Given the description of an element on the screen output the (x, y) to click on. 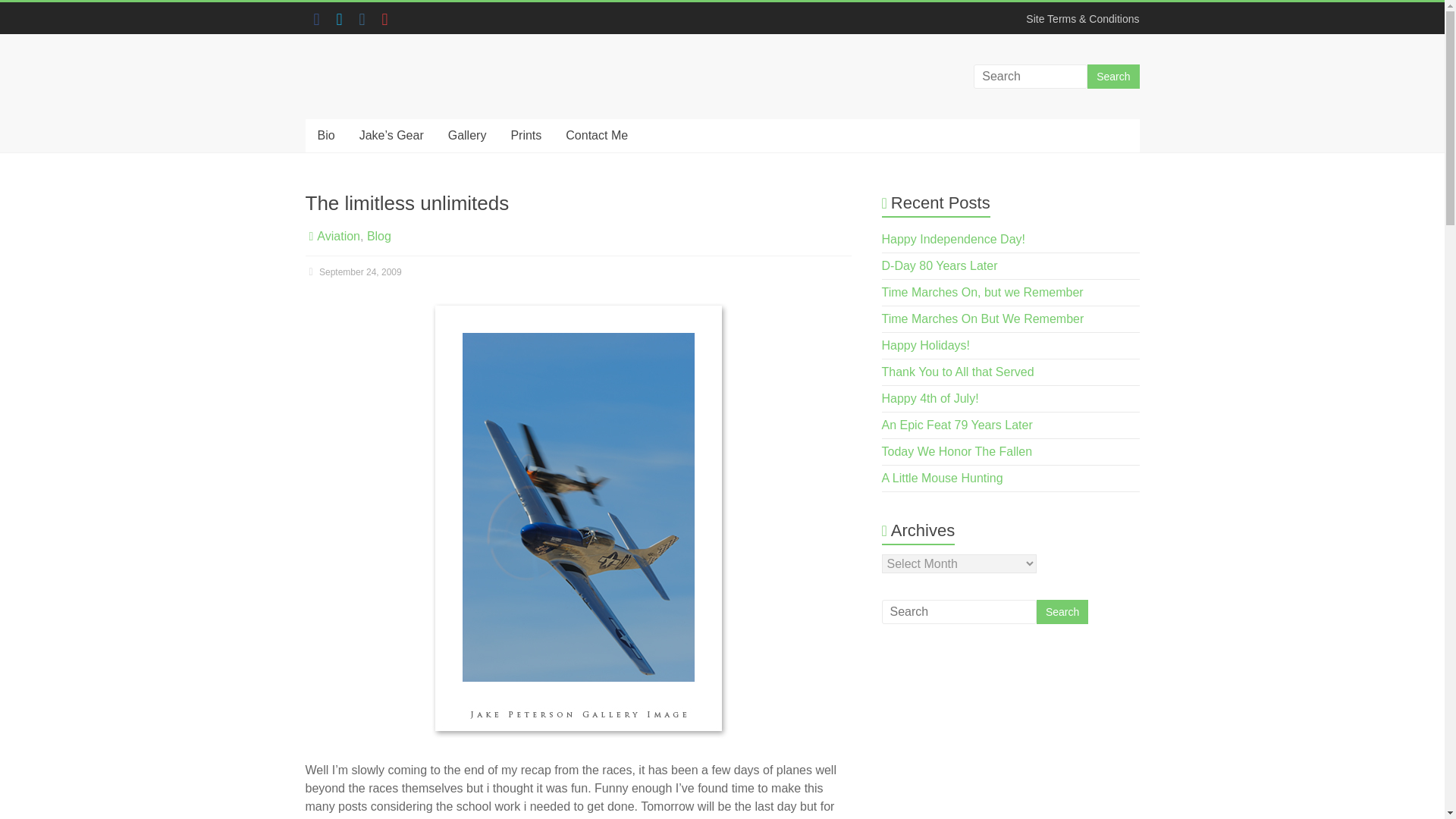
Blog (378, 236)
Search (1112, 76)
Prints (525, 135)
Bio (325, 135)
Gallery (467, 135)
D-Day 80 Years Later (939, 265)
Search (1061, 611)
Today We Honor The Fallen (957, 451)
Search (1061, 611)
Search (1112, 76)
Happy 4th of July! (930, 398)
Time Marches On But We Remember (983, 318)
Happy Holidays! (926, 345)
A Little Mouse Hunting (942, 477)
